Given the description of an element on the screen output the (x, y) to click on. 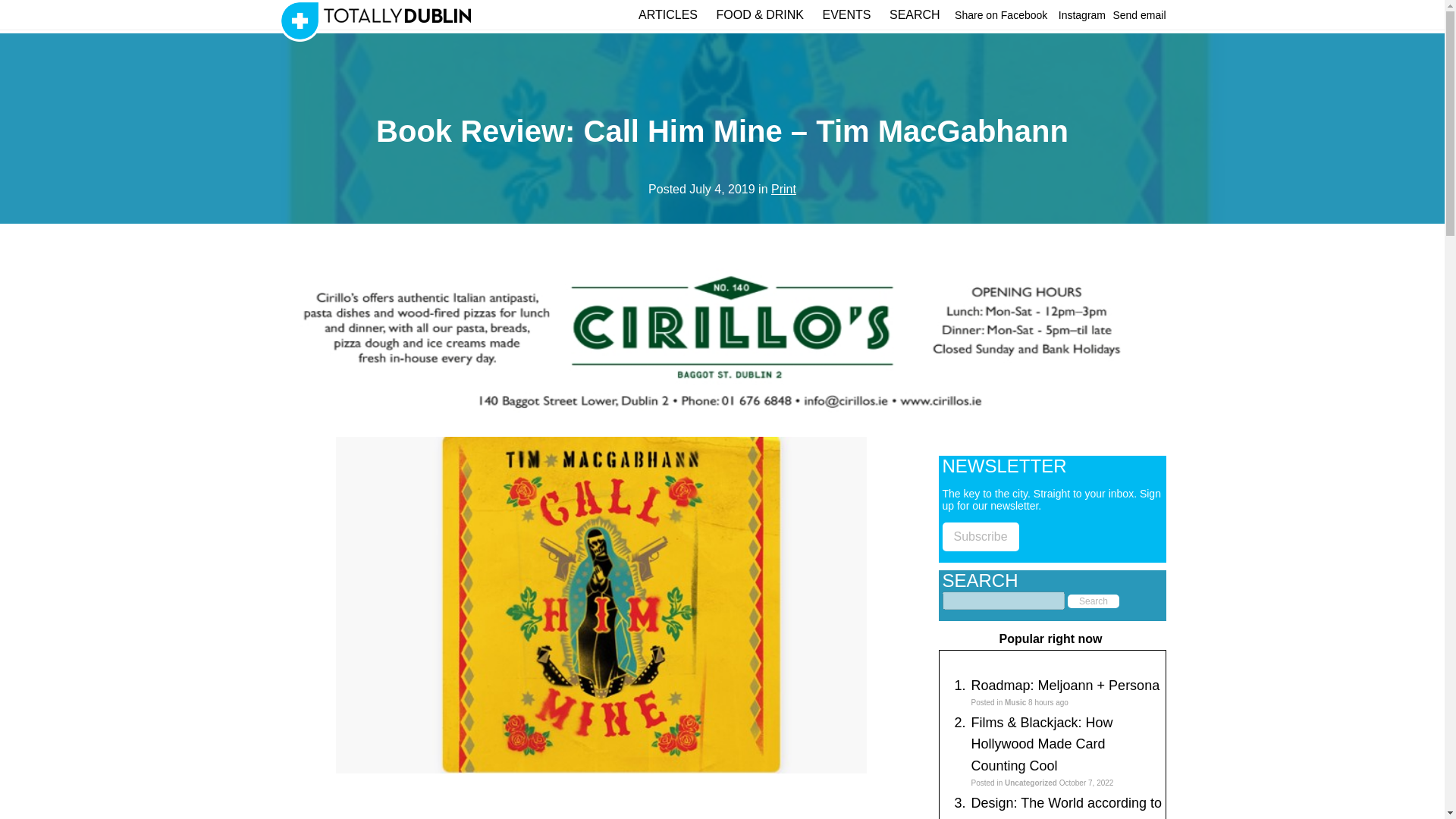
Send email (1139, 15)
Subscribe (979, 535)
Uncategorized (1030, 782)
Print (783, 188)
ARTICLES (668, 14)
Search (1093, 601)
EVENTS (846, 14)
Search (1093, 601)
Music (1015, 702)
Subscribe (979, 536)
Design: The World according to Spicebag, Adam Doyle (1065, 807)
Share on Facebook (1000, 15)
Instagram (1081, 15)
Design: The World according to Spicebag, Adam Doyle (1065, 807)
Share on Facebook (1000, 15)
